Given the description of an element on the screen output the (x, y) to click on. 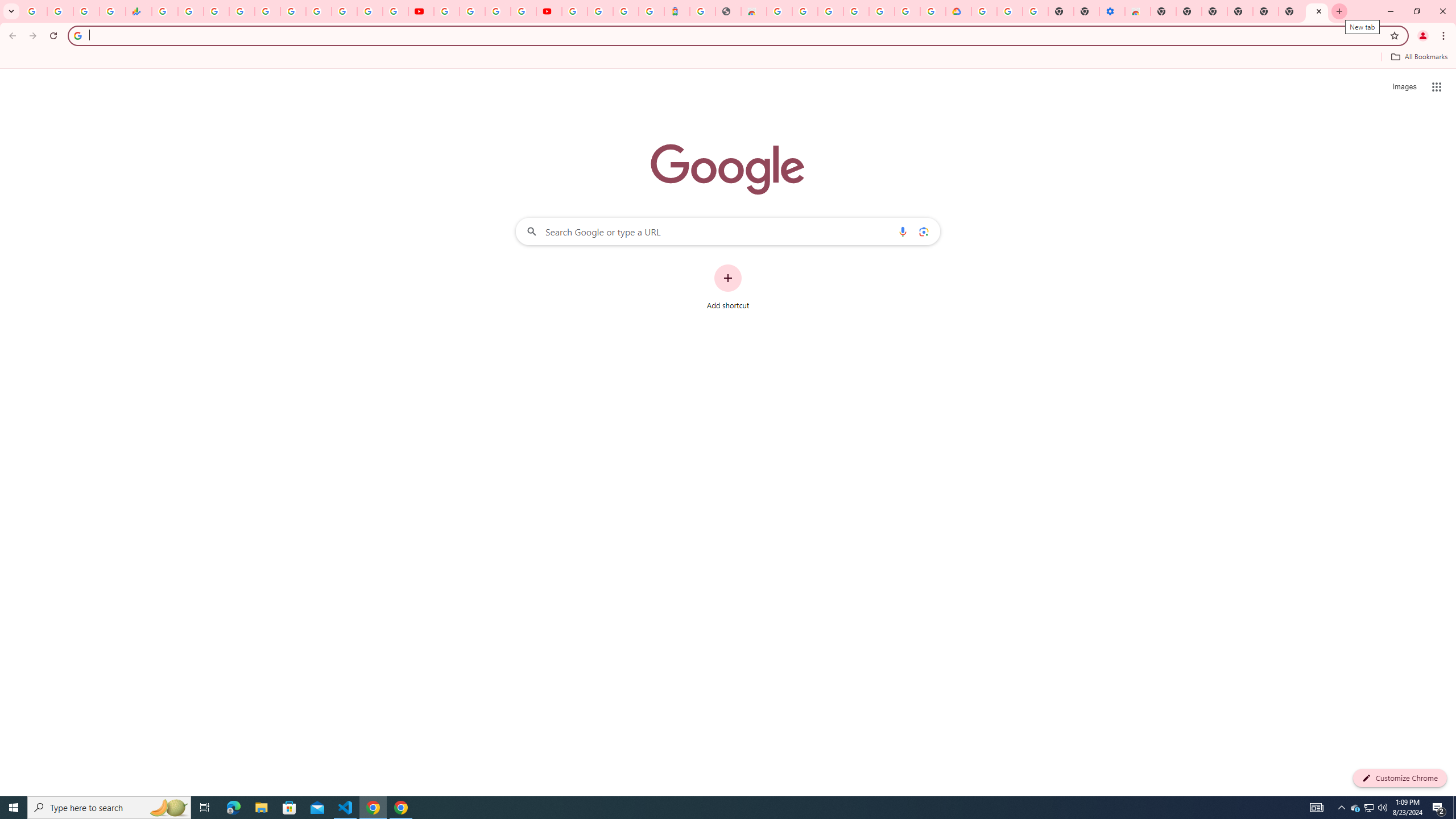
Sign in - Google Accounts (907, 11)
Settings - Accessibility (1111, 11)
Google Account Help (472, 11)
Add shortcut (727, 287)
